Given the description of an element on the screen output the (x, y) to click on. 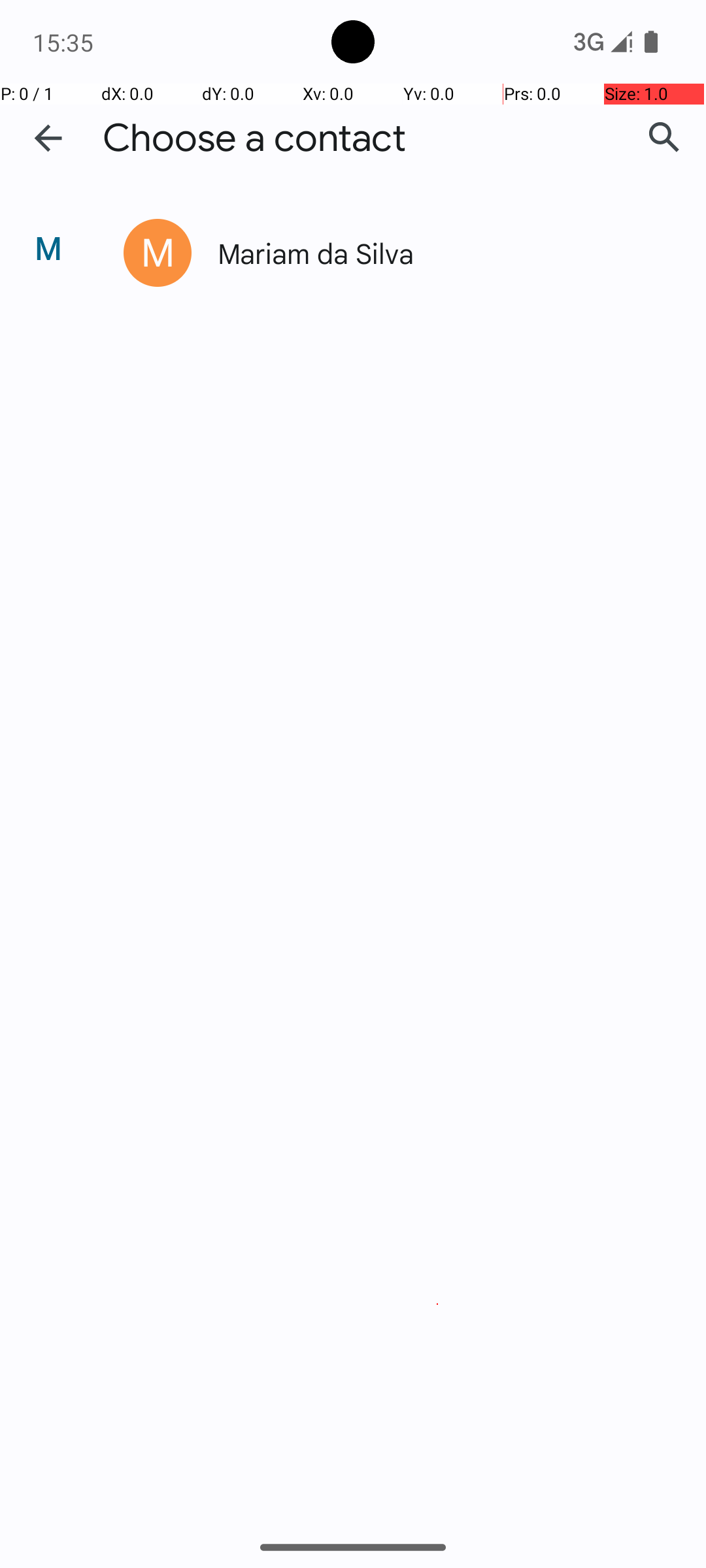
Choose a contact Element type: android.widget.TextView (253, 138)
Search contacts Element type: android.widget.Button (664, 137)
Mariam da Silva Element type: android.widget.TextView (434, 252)
